Given the description of an element on the screen output the (x, y) to click on. 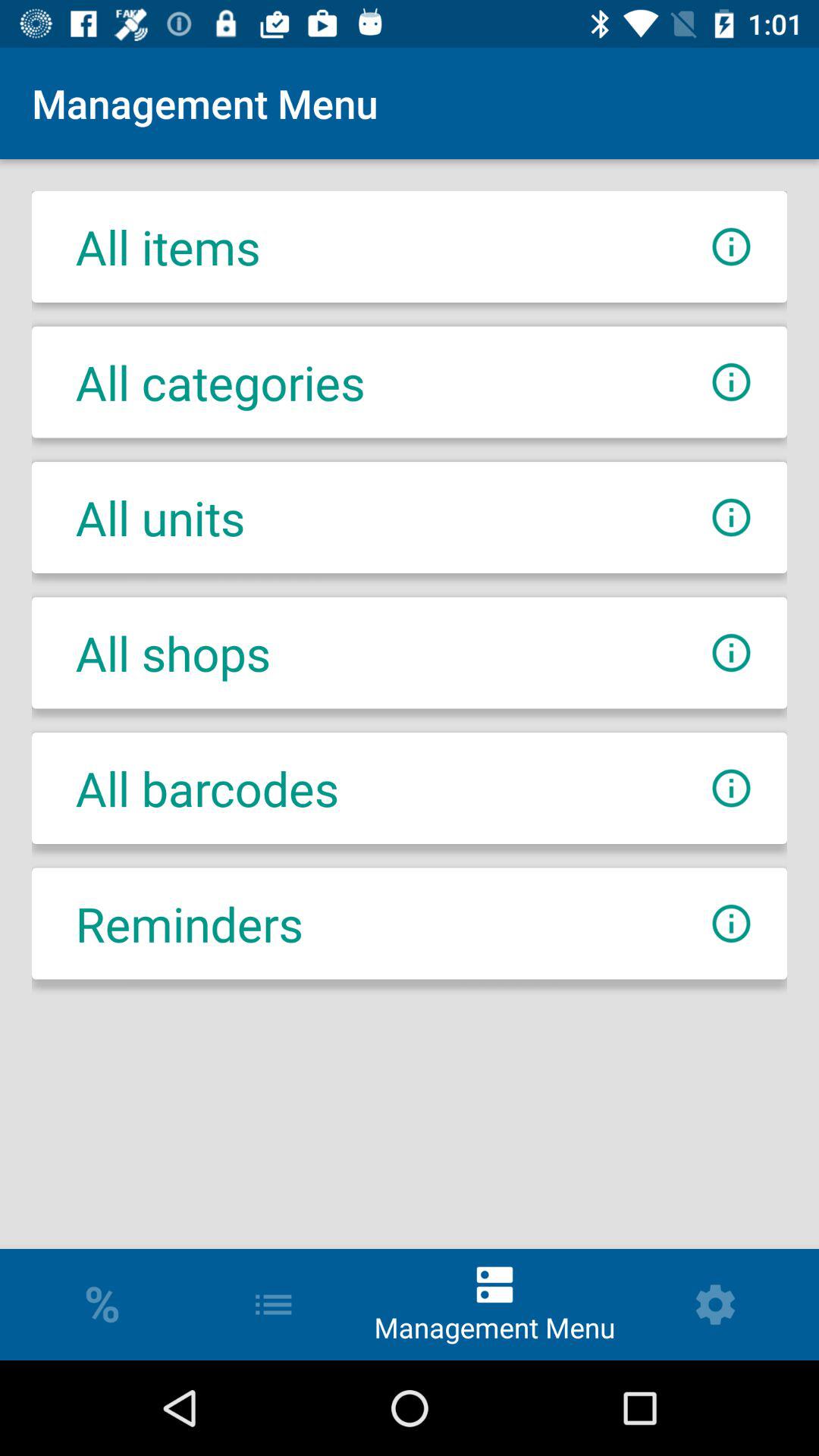
more information (731, 246)
